Given the description of an element on the screen output the (x, y) to click on. 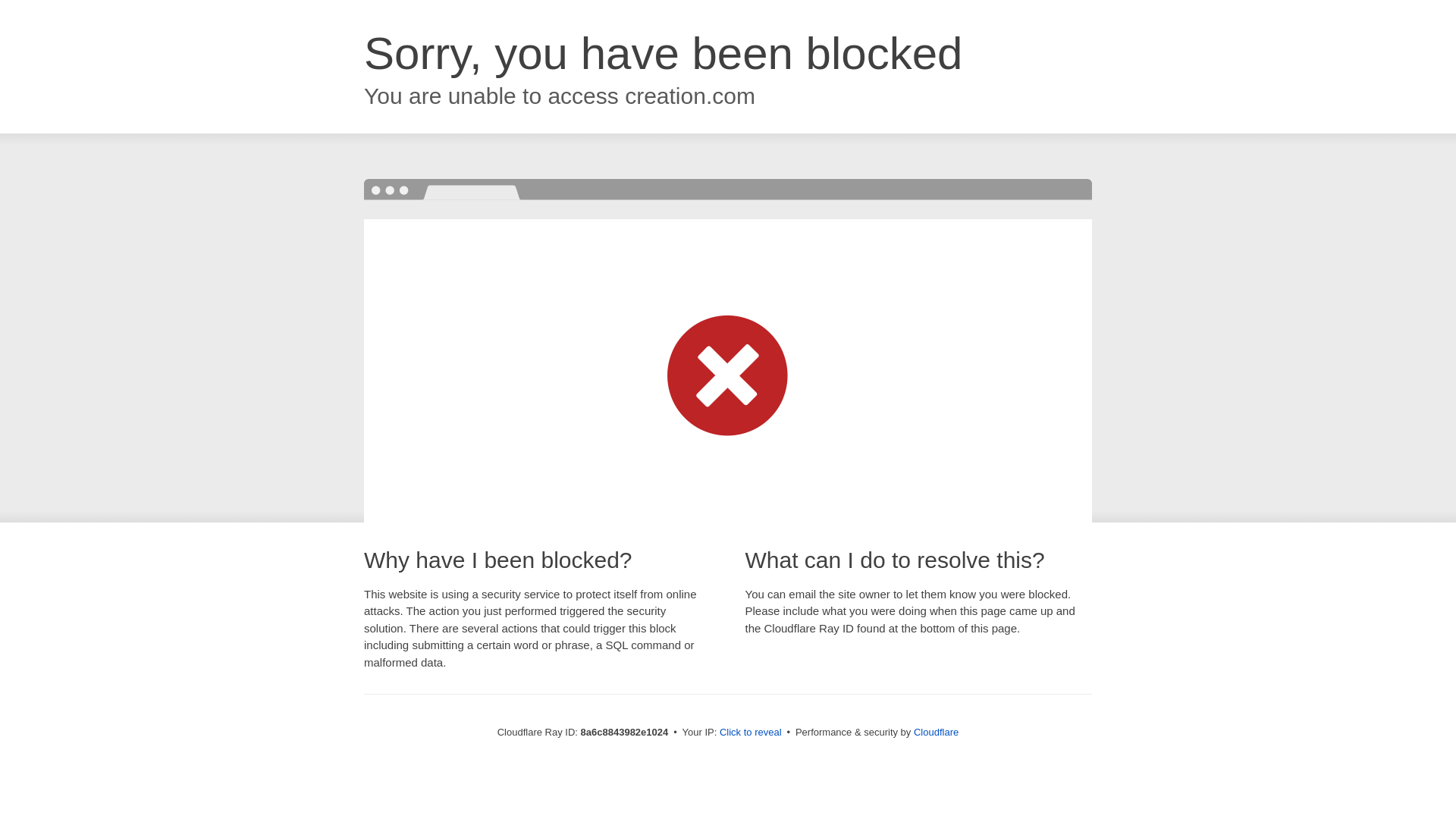
Cloudflare (936, 731)
Click to reveal (750, 732)
